Given the description of an element on the screen output the (x, y) to click on. 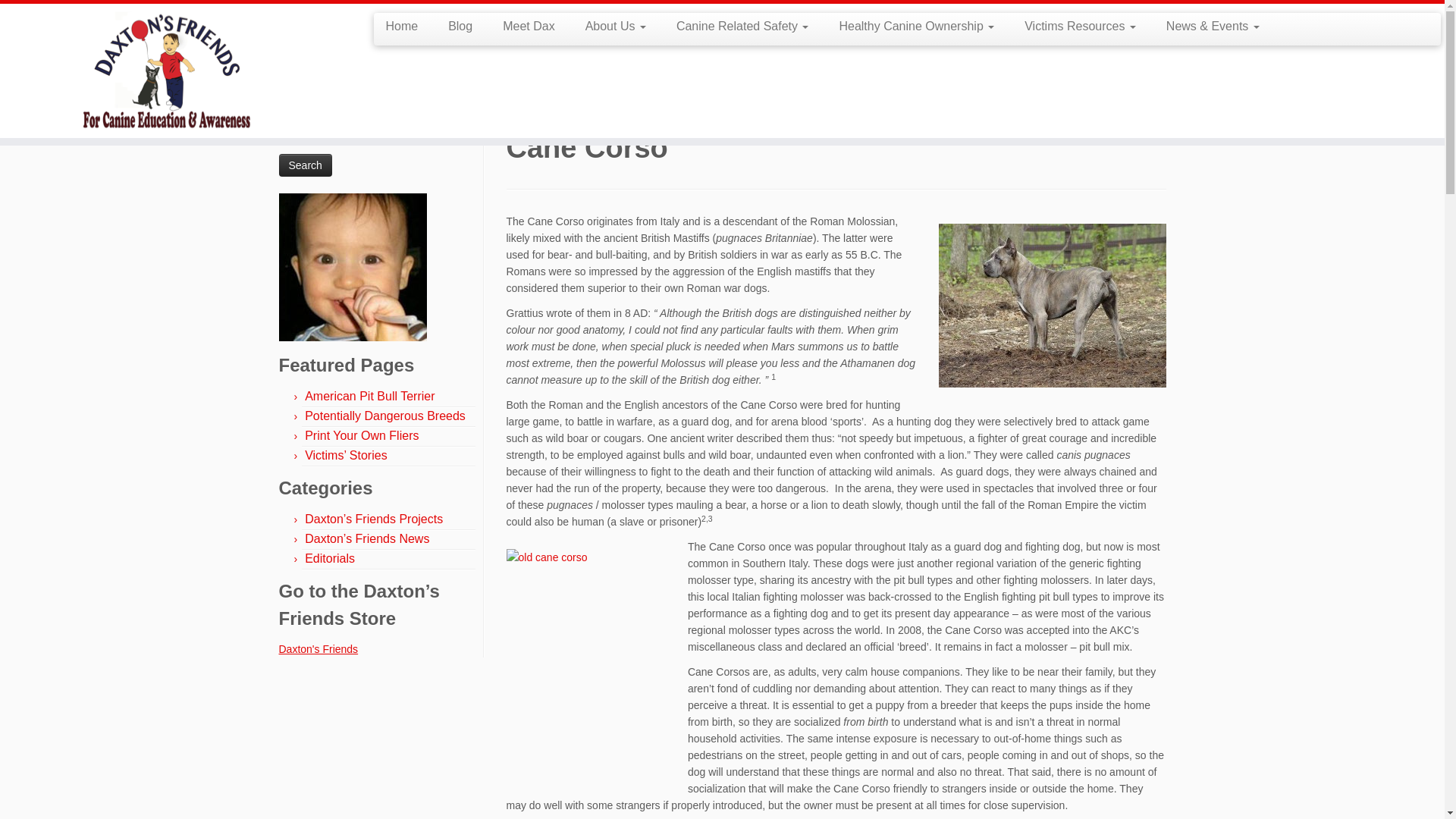
American Pit Bull Terrier (368, 395)
Search (305, 164)
Victims Resources (1080, 26)
Home (406, 26)
Search (305, 164)
Healthy Canine Ownership (916, 26)
Canine Related Safety (742, 26)
About Us (615, 26)
Home (293, 105)
Meet Dax (528, 26)
Print Your Own Fliers (361, 435)
Potentially Dangerous Breeds (384, 415)
Blog (459, 26)
